Given the description of an element on the screen output the (x, y) to click on. 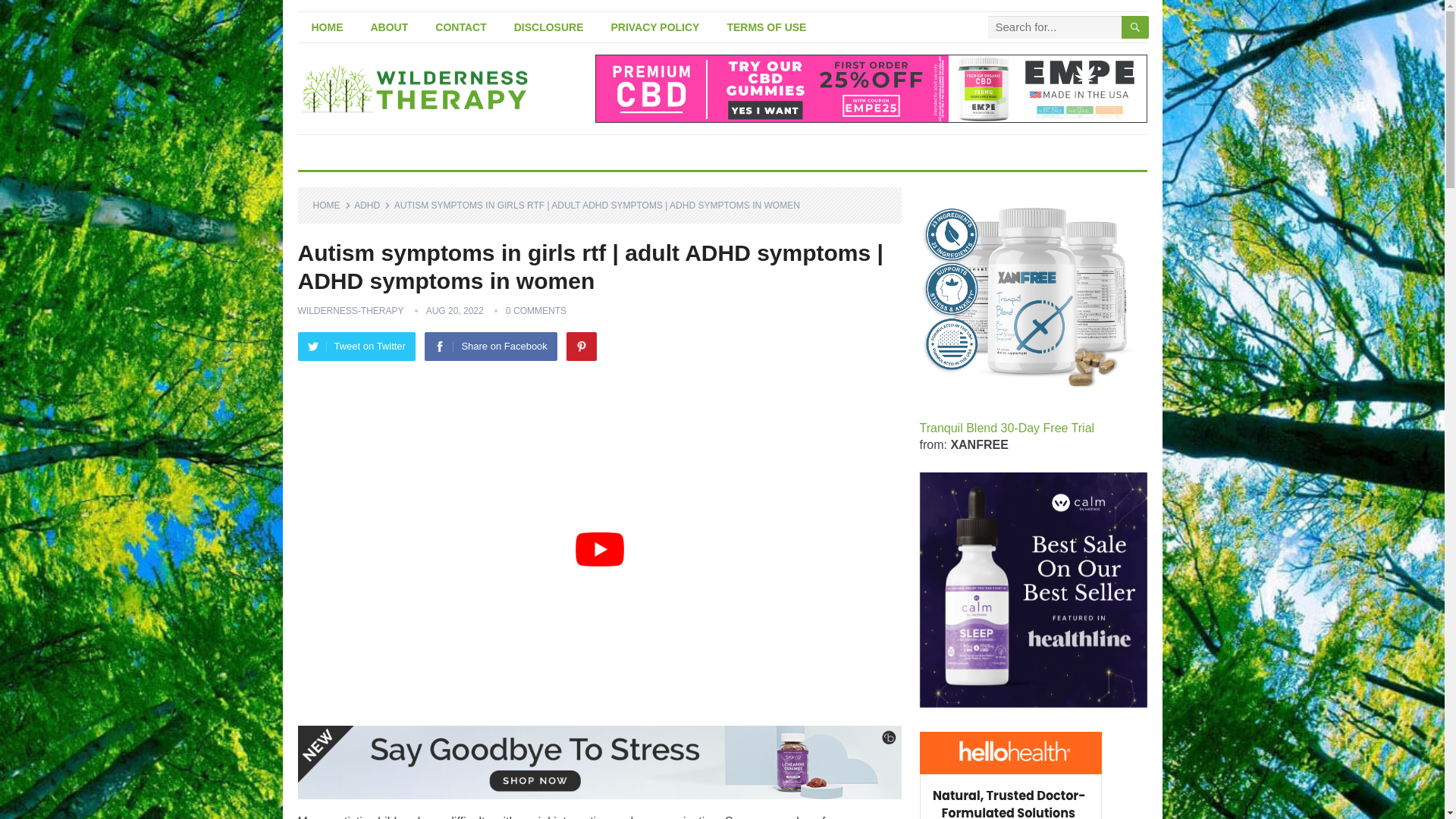
ADHD (371, 204)
0 COMMENTS (535, 310)
ABOUT (389, 27)
View all posts in ADHD (371, 204)
PRIVACY POLICY (654, 27)
HOME (326, 27)
TERMS OF USE (766, 27)
Posts by Wilderness-Therapy (350, 310)
Share on Facebook (490, 346)
Pinterest (581, 346)
HOME (331, 204)
WILDERNESS-THERAPY (350, 310)
CONTACT (460, 27)
Tweet on Twitter (355, 346)
DISCLOSURE (548, 27)
